Given the description of an element on the screen output the (x, y) to click on. 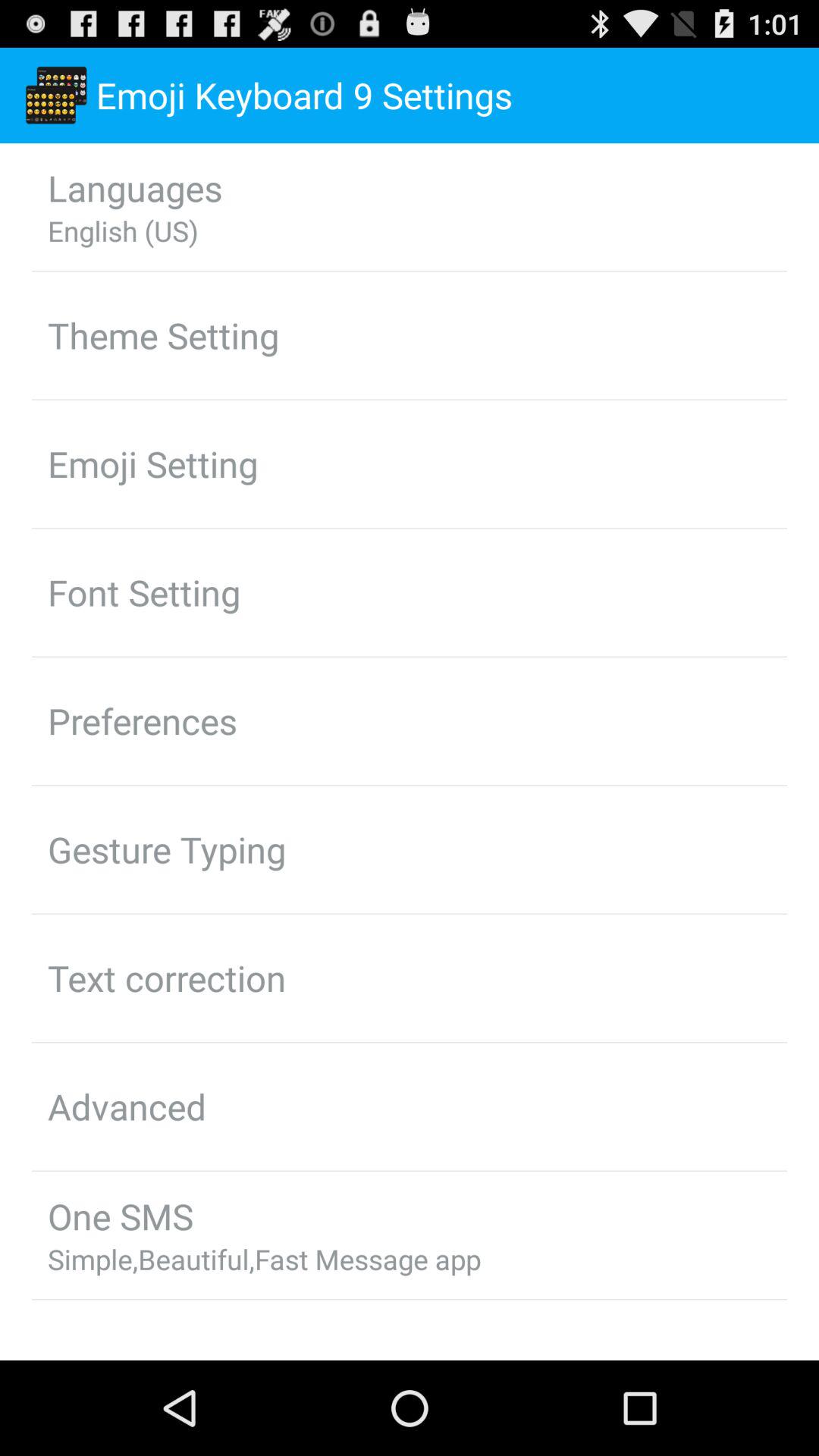
click app above the advanced app (166, 977)
